Given the description of an element on the screen output the (x, y) to click on. 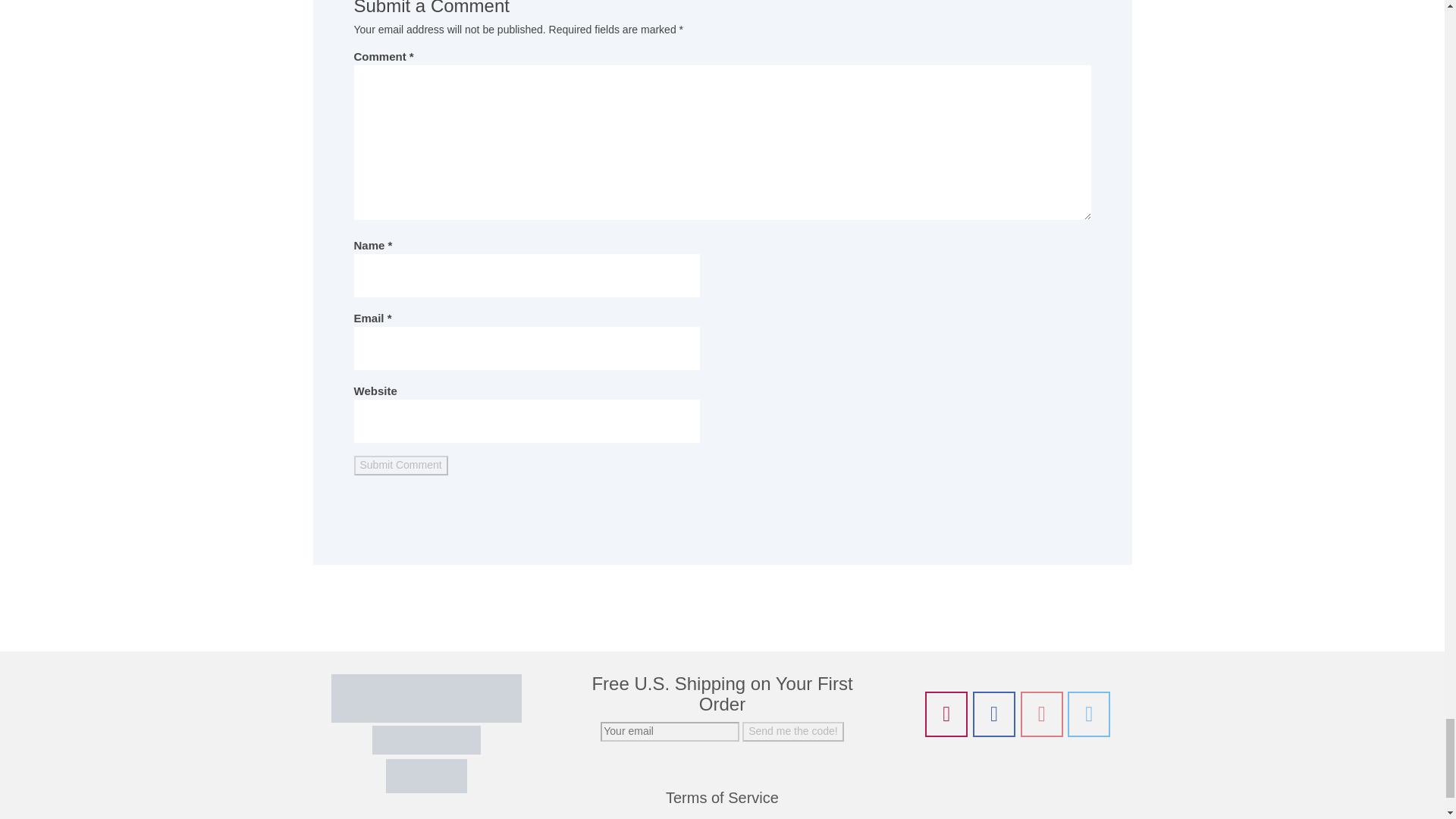
Splendid Beast on X Twitter (1088, 714)
Splendid Beast on Instagram (946, 714)
Splendid Beast on Facebook (993, 714)
Splendid Beast on Pinterest (1041, 714)
